Given the description of an element on the screen output the (x, y) to click on. 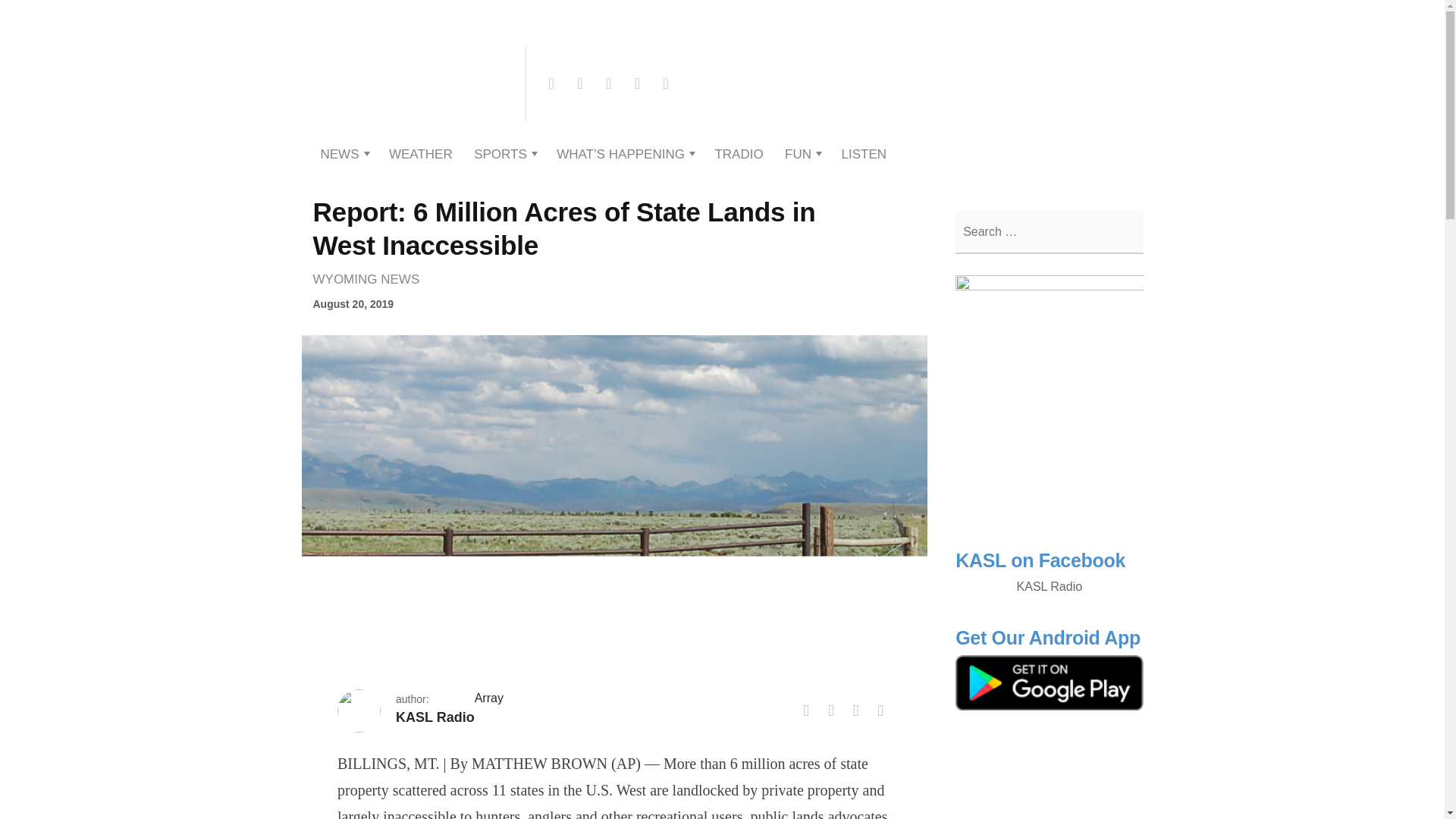
KASL Radio (411, 117)
WEATHER (420, 154)
Wyoming News (369, 278)
SPORTS (500, 154)
NEWS (339, 154)
Posts by KASL Radio (435, 717)
